Given the description of an element on the screen output the (x, y) to click on. 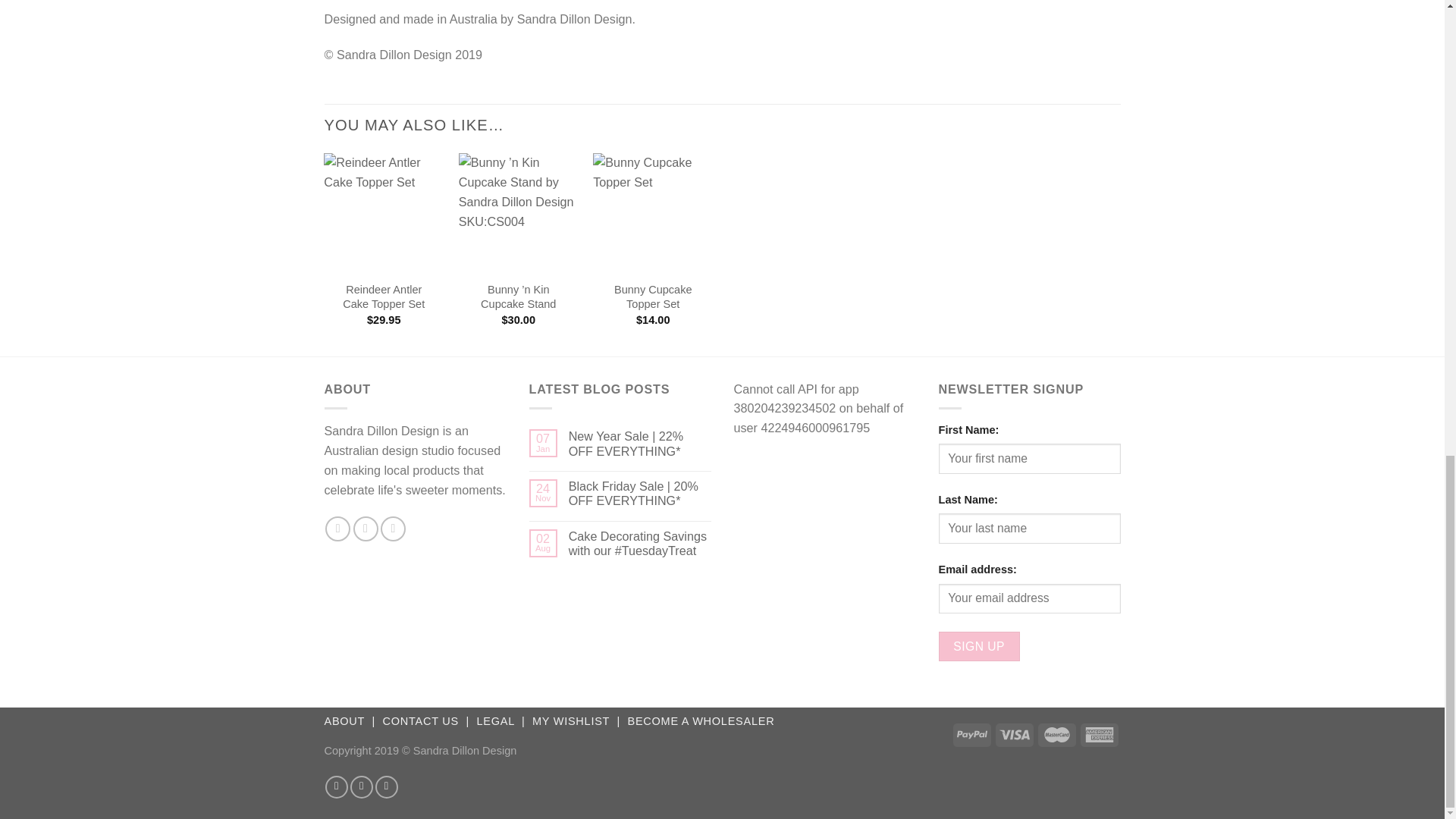
Sign up (979, 646)
